Given the description of an element on the screen output the (x, y) to click on. 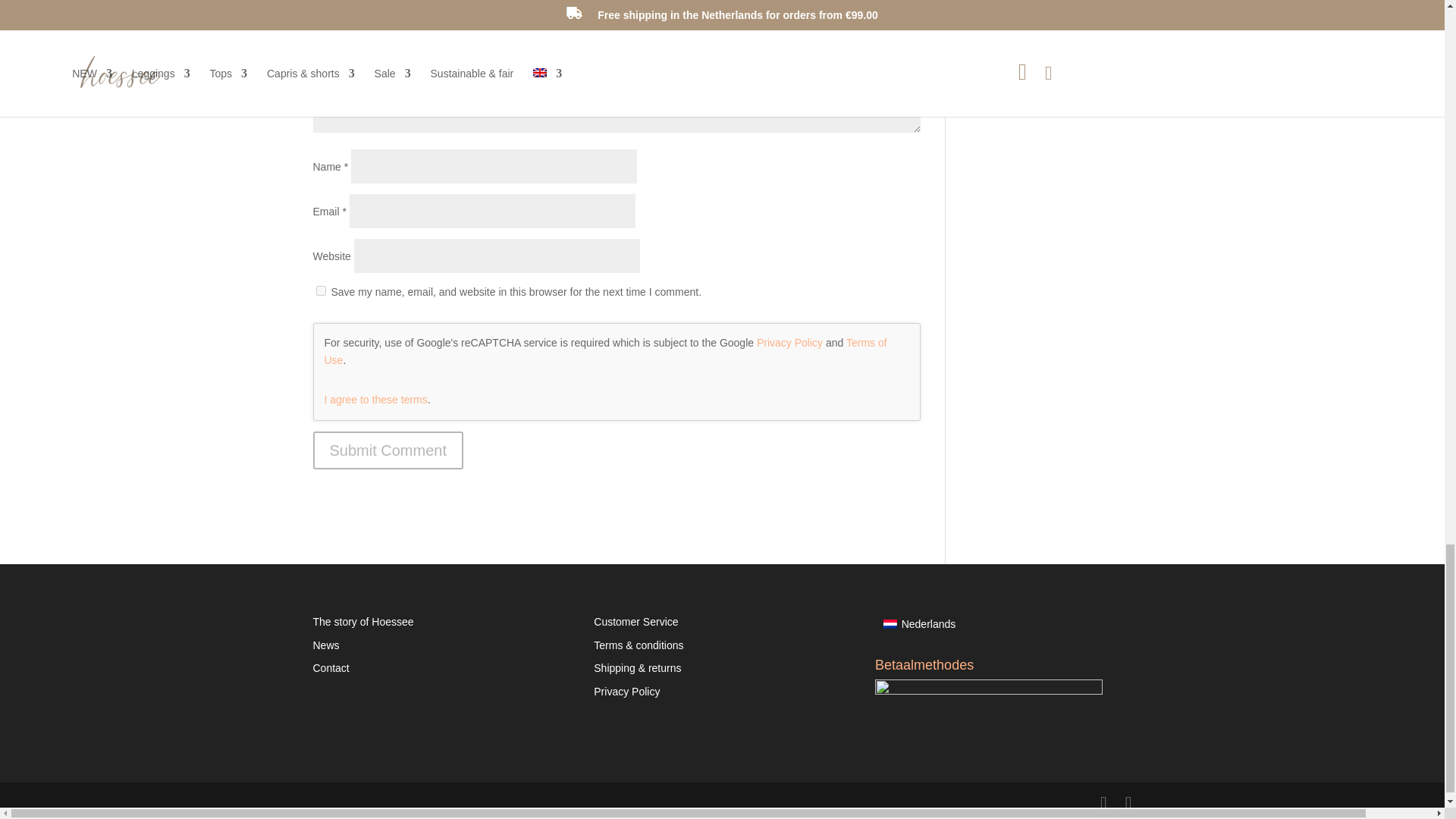
Terms of Use (605, 351)
Submit Comment (388, 450)
Privacy Policy (789, 342)
I agree to these terms (376, 399)
yes (319, 290)
Betaalmethodes (988, 718)
